Given the description of an element on the screen output the (x, y) to click on. 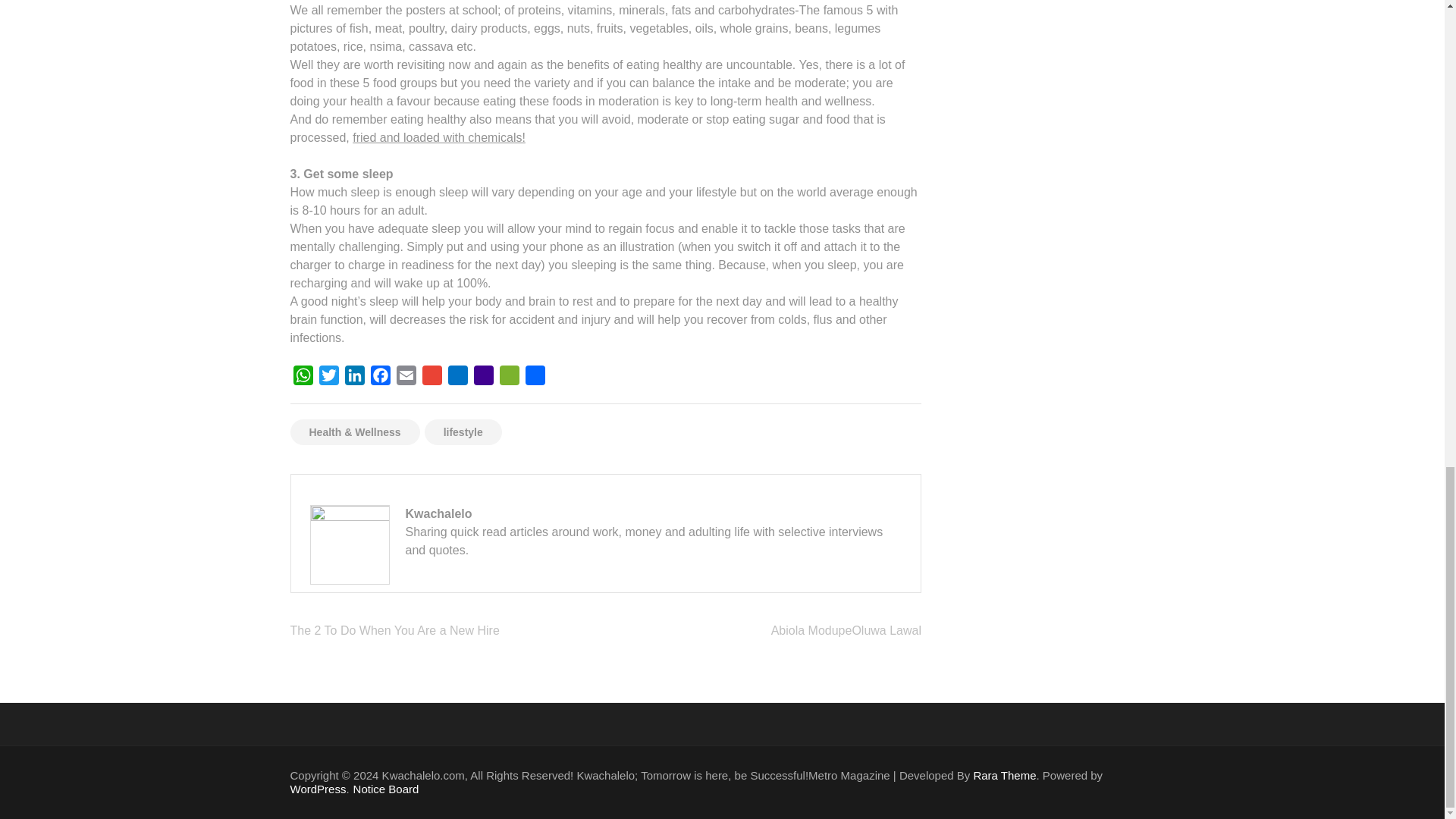
Twitter (327, 378)
The 2 To Do When You Are a New Hire (394, 630)
Gmail (431, 378)
Yahoo Mail (483, 378)
Twitter (327, 378)
lifestyle (463, 432)
Facebook (379, 378)
Facebook (379, 378)
LinkedIn (353, 378)
fried and loaded with chemicals! (438, 137)
